Given the description of an element on the screen output the (x, y) to click on. 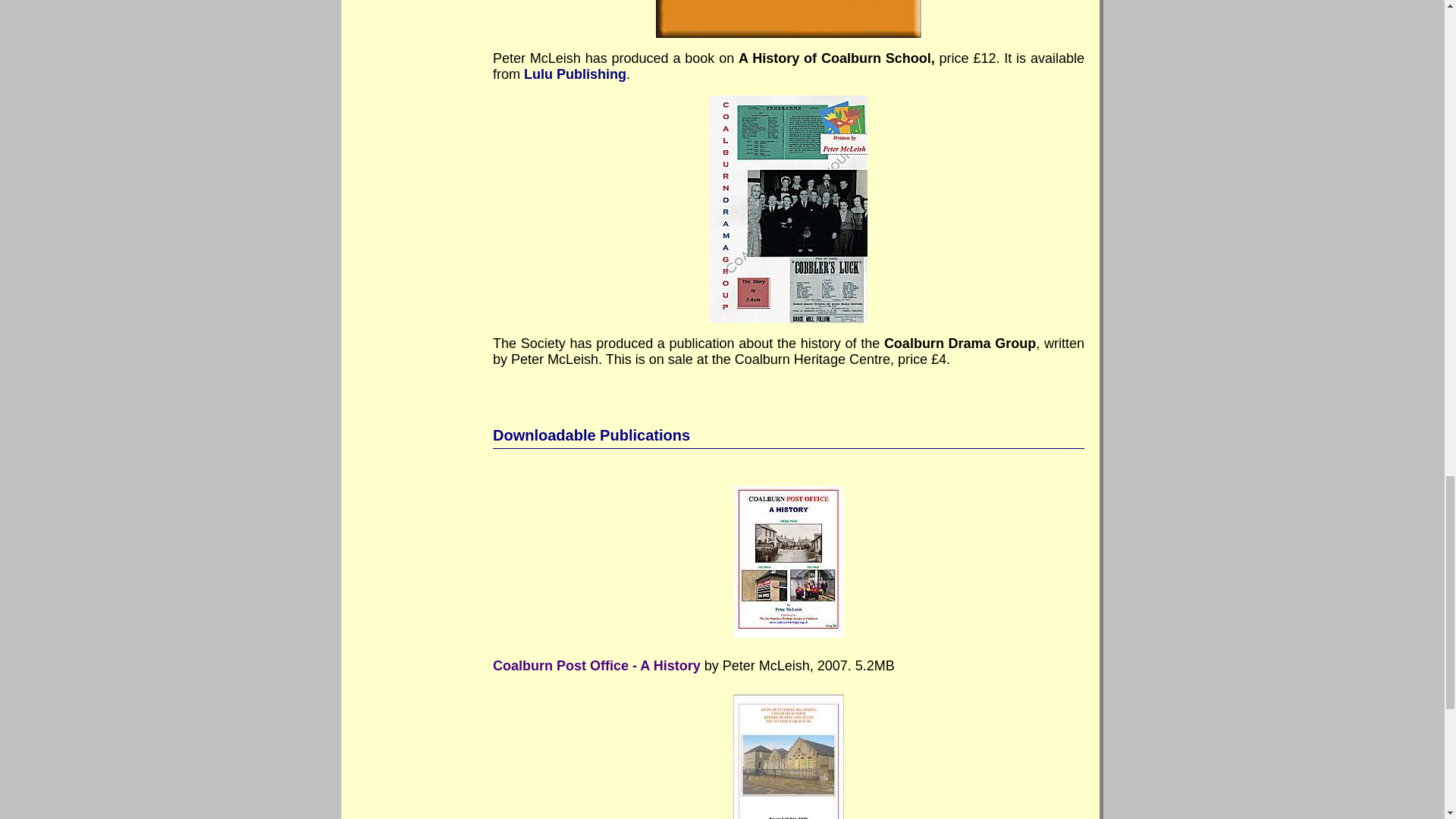
Lulu Publishing (575, 73)
Coalburn Post Office - A History (596, 665)
